Given the description of an element on the screen output the (x, y) to click on. 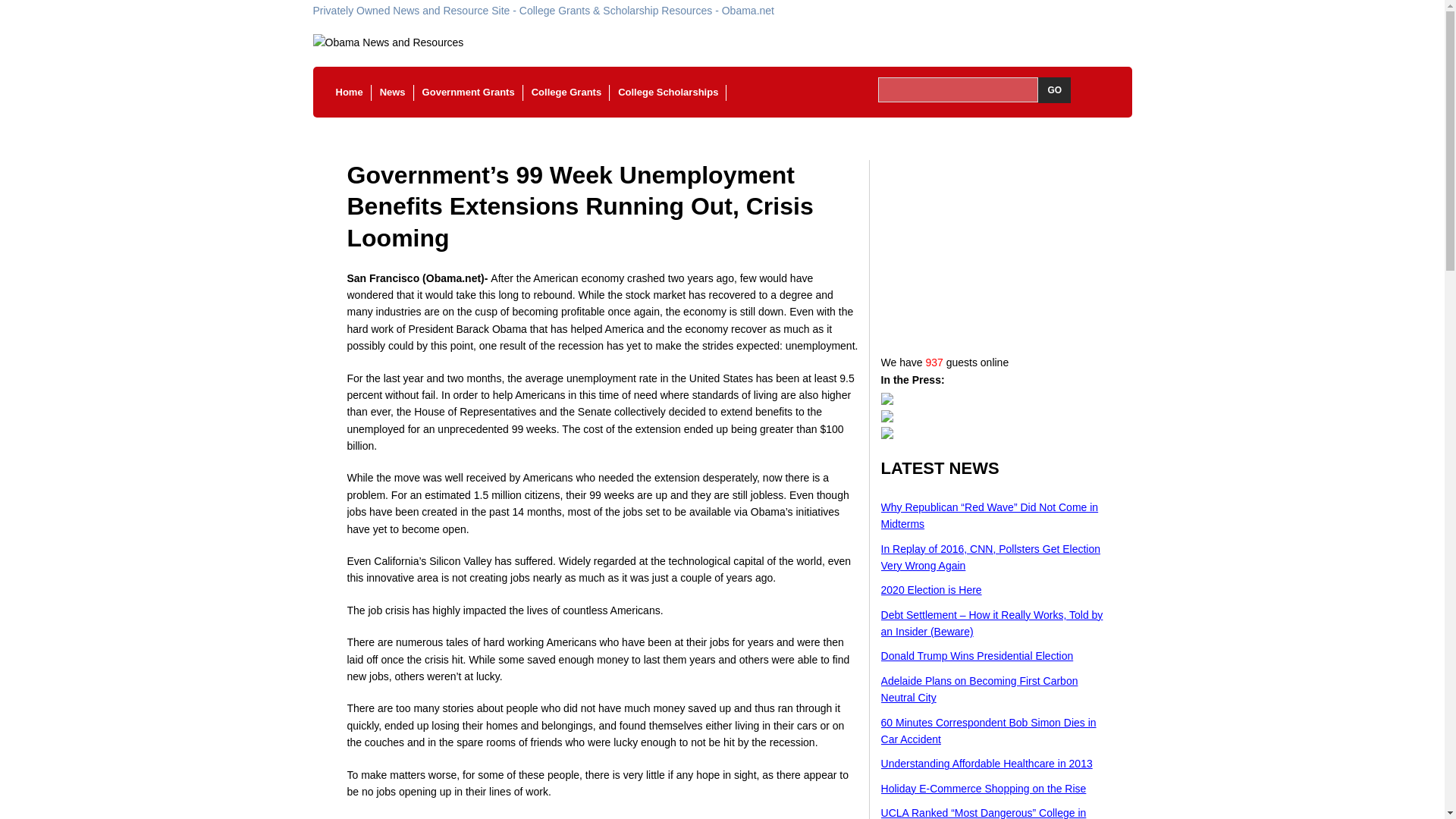
GO (1054, 89)
Government Grants (467, 92)
Home (349, 92)
College Grants (566, 92)
Obama News and Resources (722, 42)
College Scholarships (668, 92)
News (392, 92)
GO (1054, 89)
GO (1054, 89)
